Given the description of an element on the screen output the (x, y) to click on. 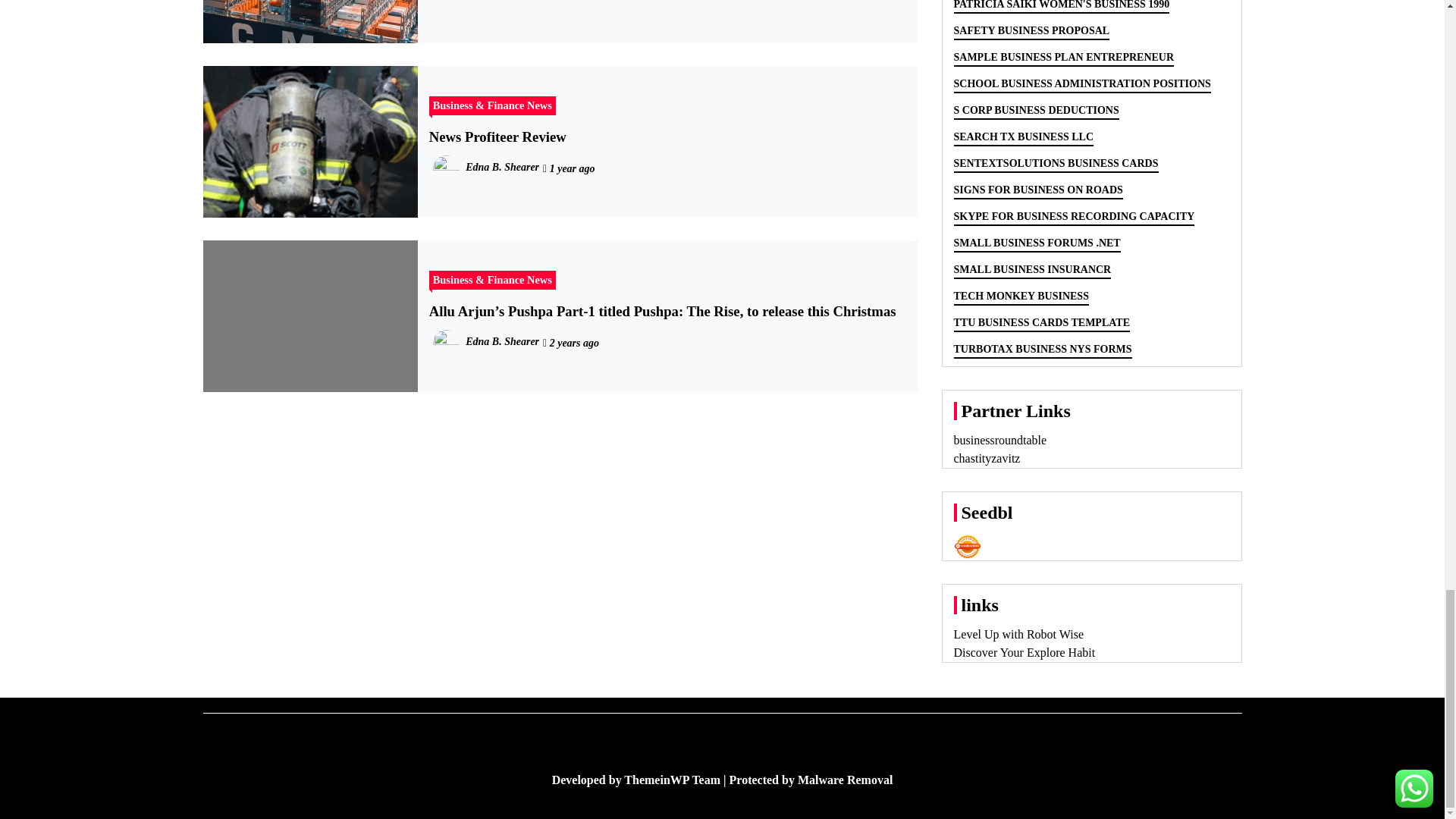
Seedbacklink (967, 546)
